Given the description of an element on the screen output the (x, y) to click on. 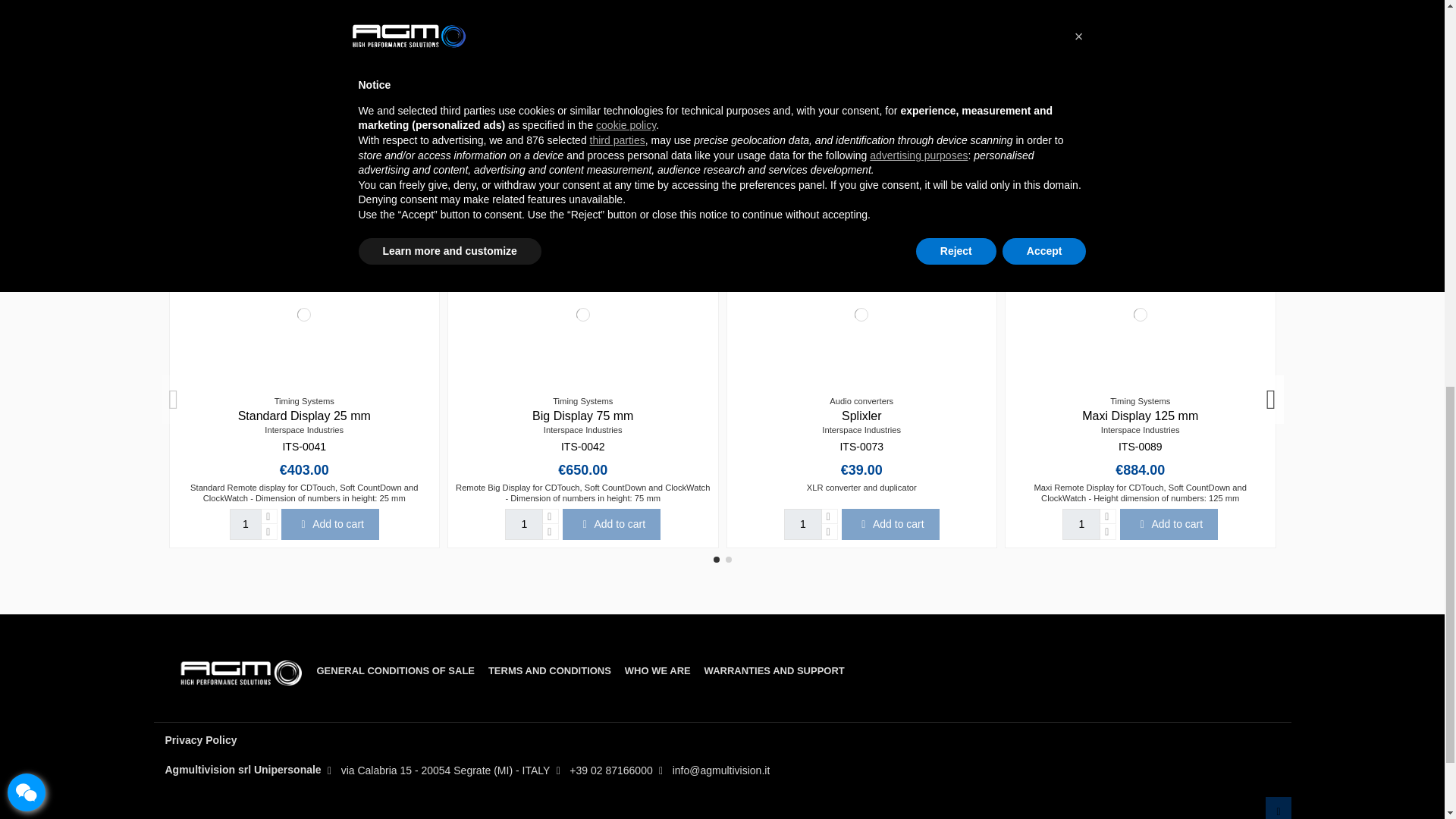
1 (524, 523)
1 (803, 523)
1 (246, 523)
1 (1081, 523)
